Given the description of an element on the screen output the (x, y) to click on. 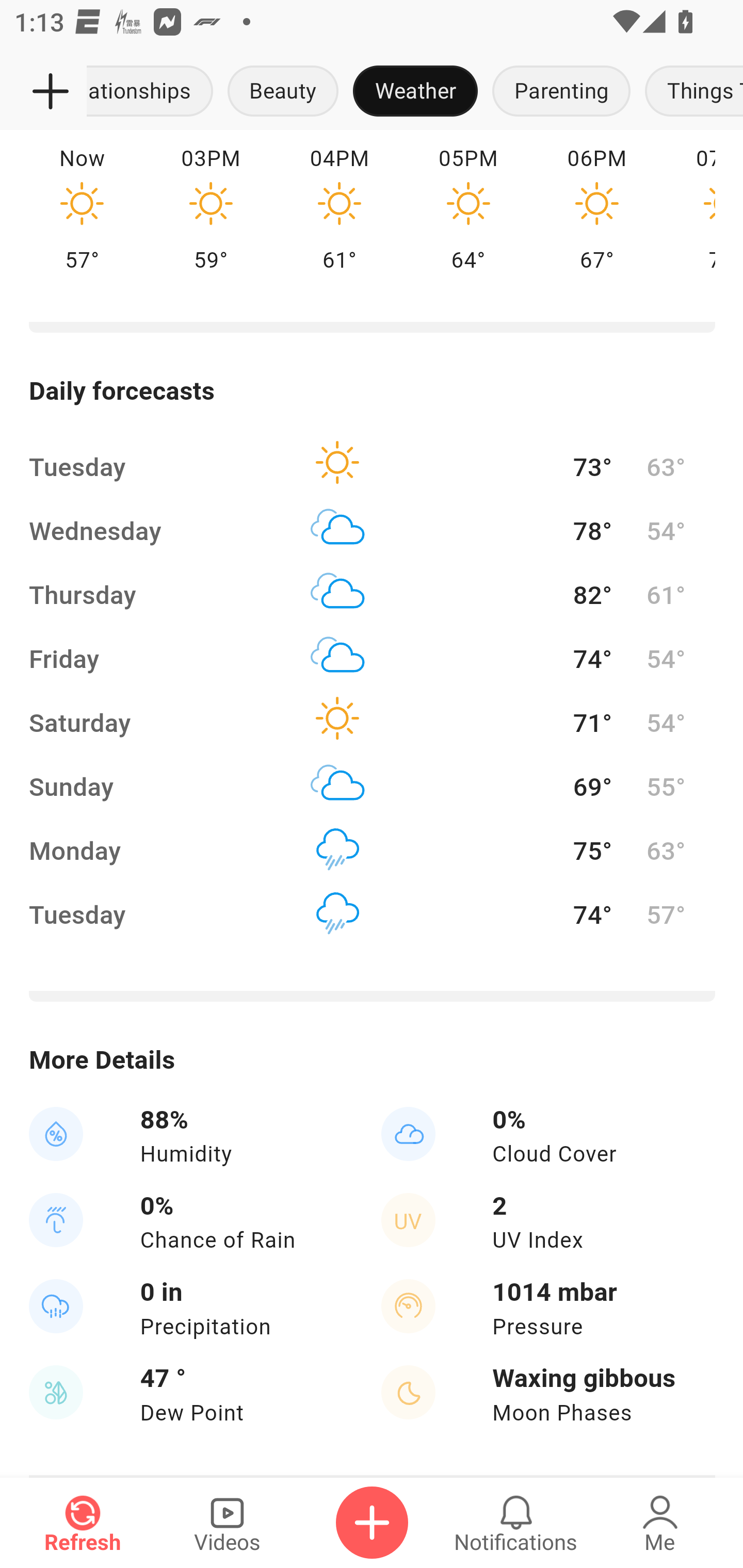
Relationships (153, 91)
Beauty (282, 91)
Weather (415, 91)
Parenting (561, 91)
Things To Do (690, 91)
Videos (227, 1522)
Notifications (516, 1522)
Me (659, 1522)
